Given the description of an element on the screen output the (x, y) to click on. 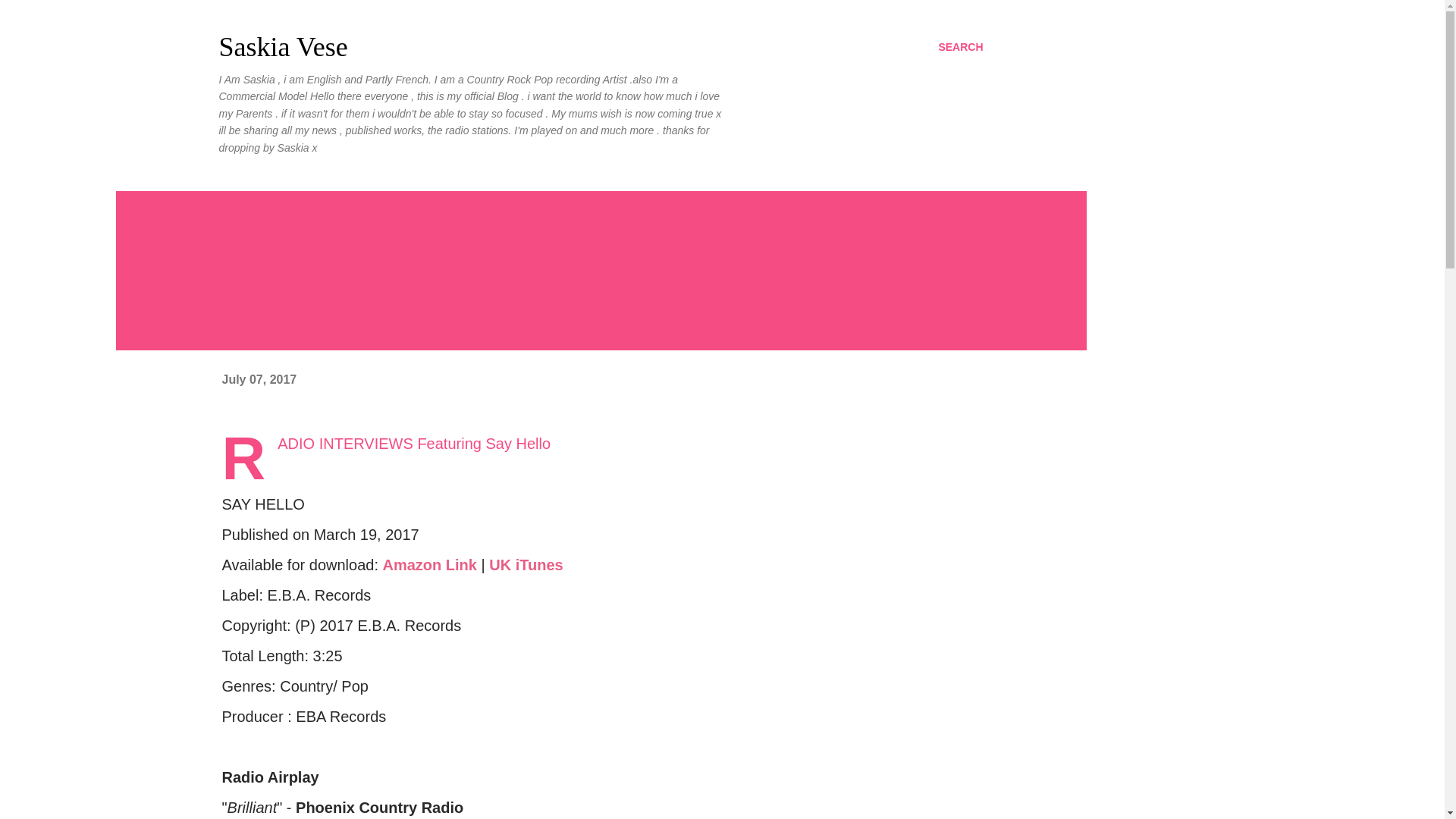
SEARCH (959, 46)
UK iTunes (525, 564)
July 07, 2017 (259, 379)
permanent link (259, 379)
Saskia Vese (282, 46)
Amazon Link (428, 564)
